Given the description of an element on the screen output the (x, y) to click on. 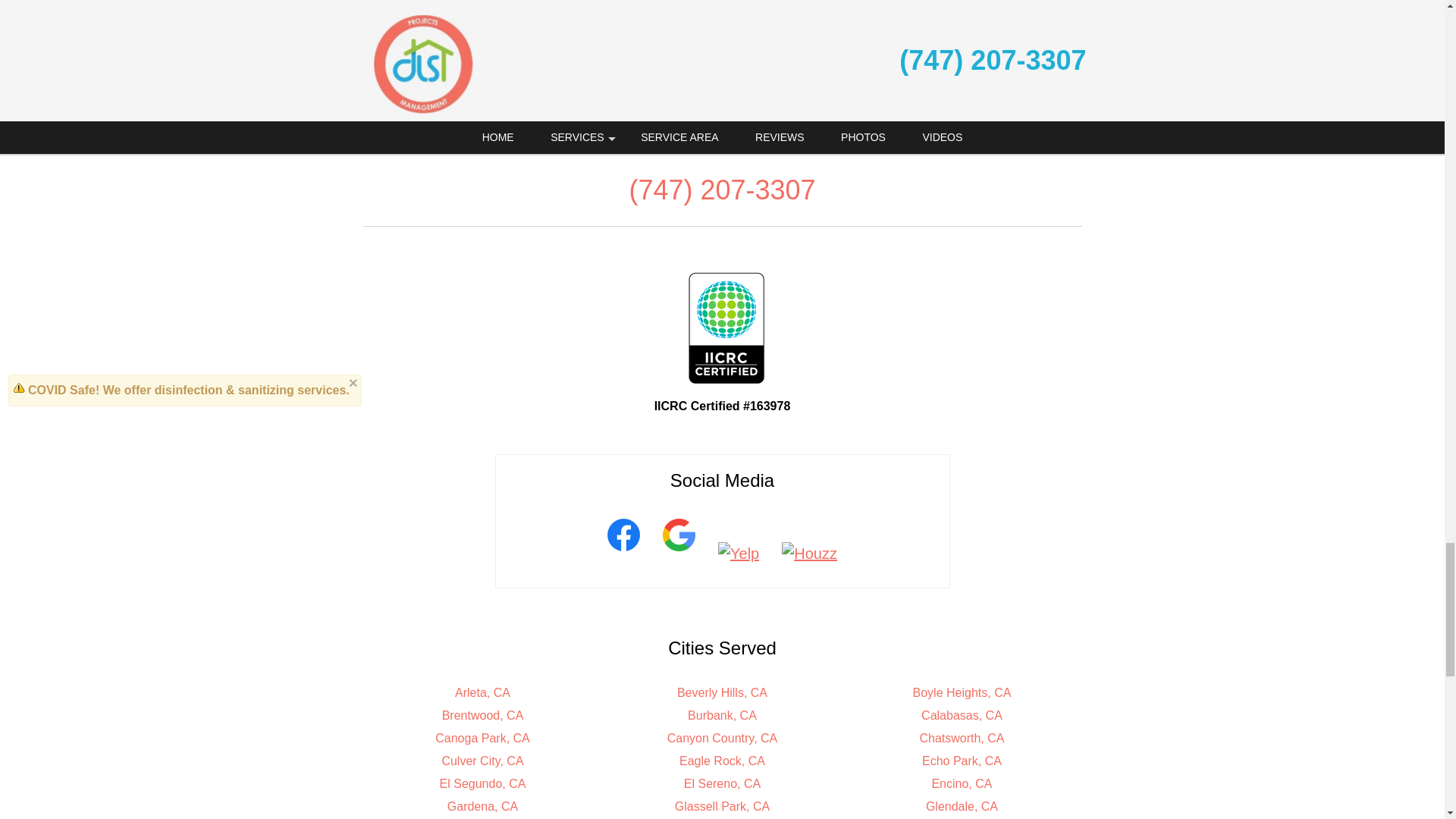
Yelp (738, 553)
Google (678, 553)
Brentwood, CA (483, 715)
Houzz (809, 553)
Calabasas, CA (962, 715)
Facebook (622, 553)
Boyle Heights, CA (961, 692)
Burbank, CA (722, 715)
Beverly Hills, CA (722, 692)
Arleta, CA (482, 692)
